Given the description of an element on the screen output the (x, y) to click on. 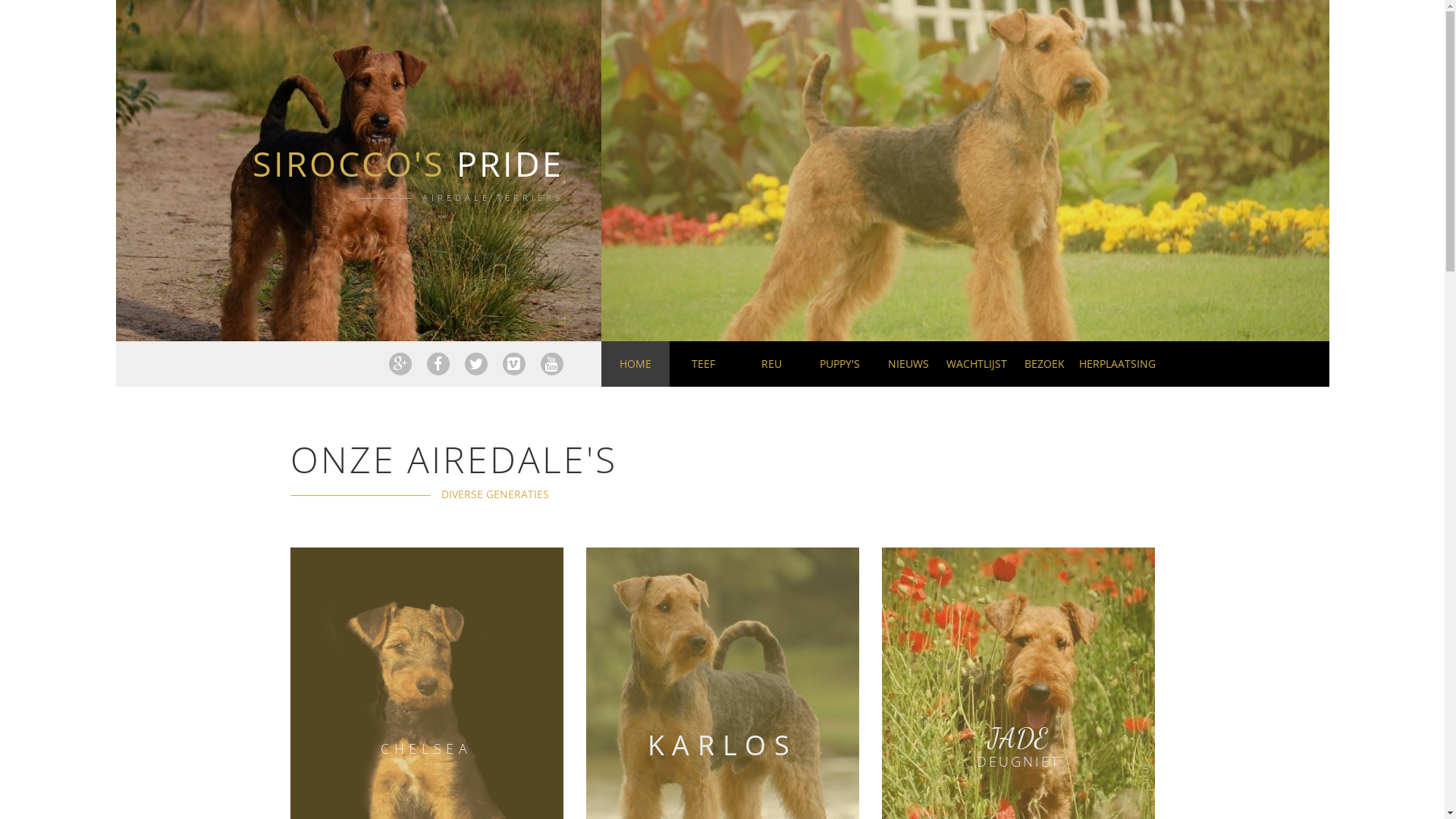
NIEUWS Element type: text (907, 363)
REU Element type: text (771, 363)
BEZOEK Element type: text (1044, 363)
HOME Element type: text (634, 363)
TEEF Element type: text (702, 363)
HERPLAATSING Element type: text (1112, 363)
PUPPY'S Element type: text (839, 363)
WACHTLIJST Element type: text (975, 363)
